Given the description of an element on the screen output the (x, y) to click on. 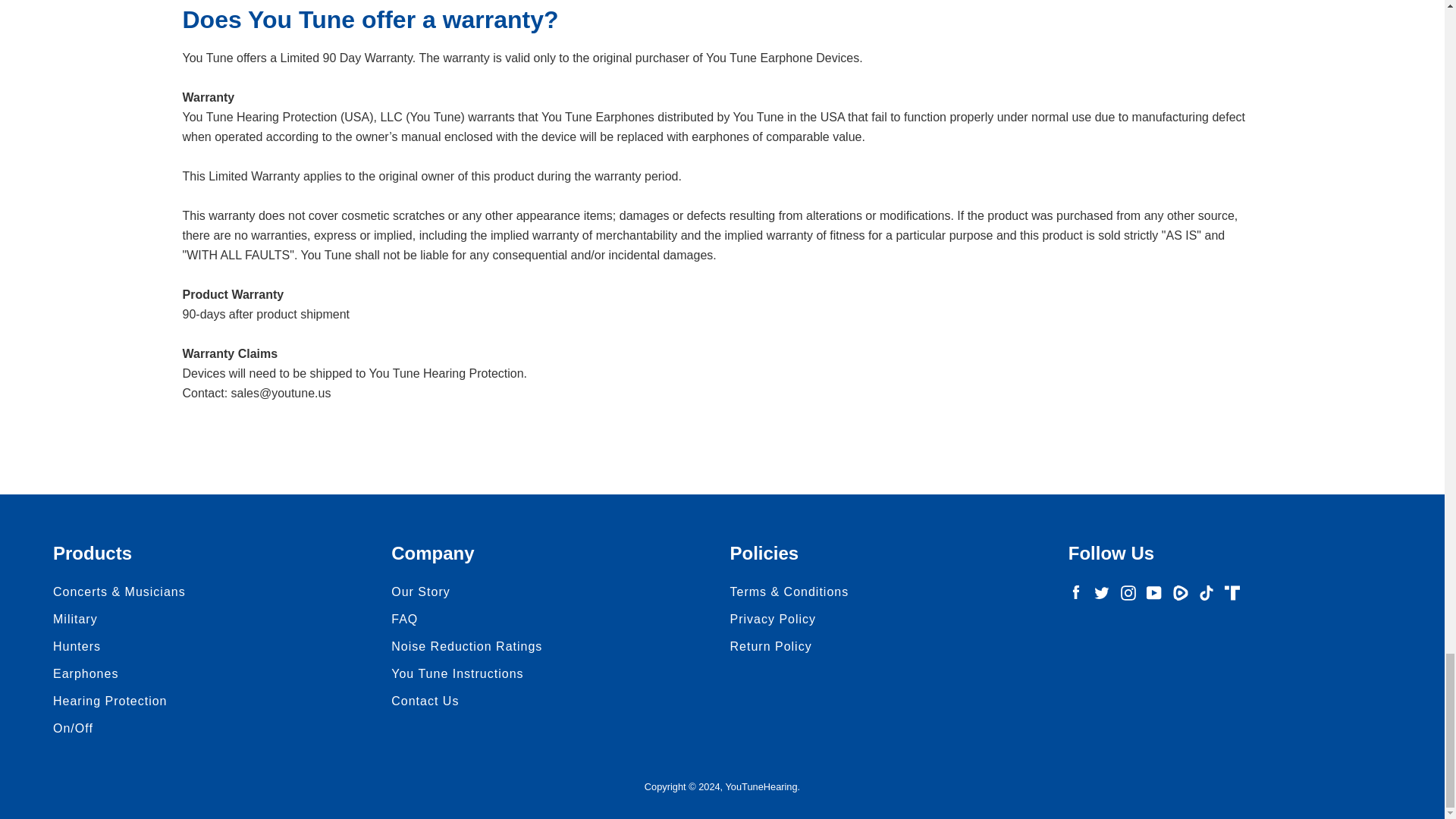
You Tune Instructions (456, 673)
Contact Us (424, 700)
YouTuneHearing on Rumble (1180, 591)
YouTuneHearing on YouTube (1154, 591)
FAQ (404, 618)
YouTuneHearing on Instagram (1128, 591)
Hearing Protection (109, 700)
Hunters (76, 645)
Noise Reduction Ratings (466, 645)
YouTuneHearing on Twitter (1101, 591)
